Given the description of an element on the screen output the (x, y) to click on. 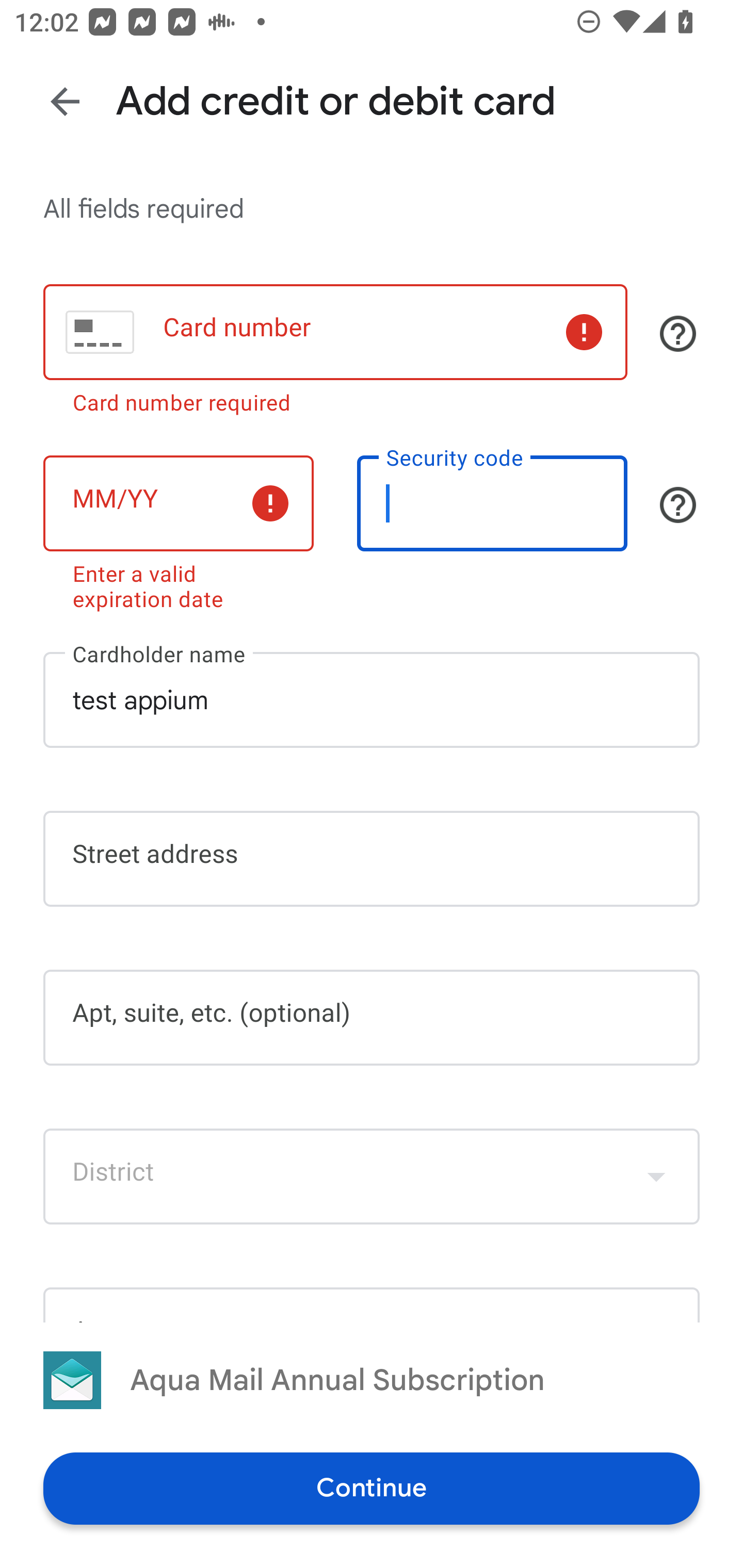
Back (64, 101)
Card number (335, 331)
Button, shows cards that are accepted for payment (677, 333)
Expiration date, 2 digit month, 2 digit year (178, 502)
Security code (492, 502)
Security code help (677, 504)
test appium (371, 699)
Street address (371, 858)
Apt, suite, etc. (optional) (371, 1017)
District (371, 1176)
Show dropdown menu (655, 1176)
Continue (371, 1487)
